Given the description of an element on the screen output the (x, y) to click on. 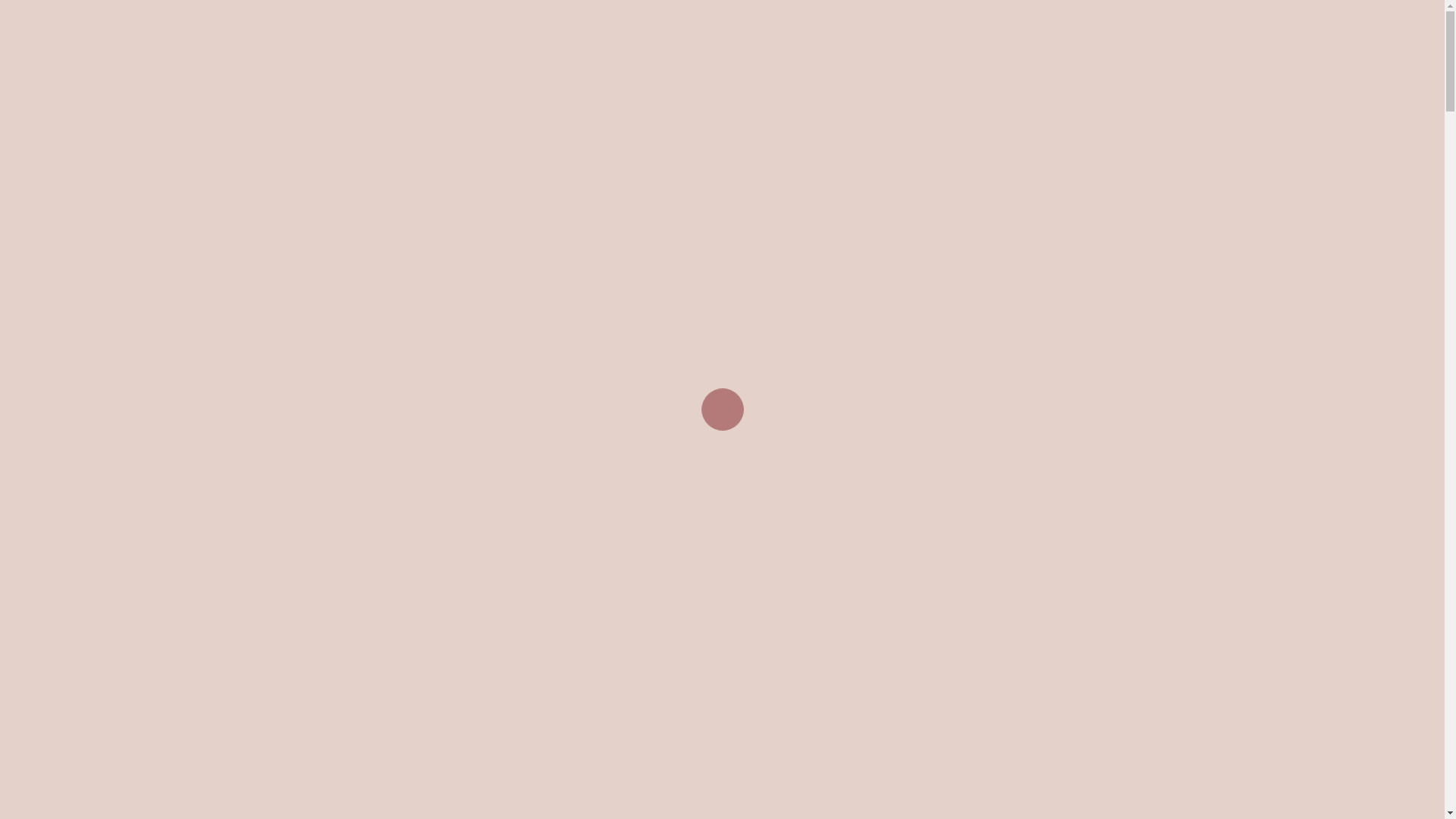
PRESS Element type: text (1261, 25)
AVAILABILITY Element type: text (1323, 25)
THE PENN DISTRICT Element type: text (1182, 25)
CONTACT Element type: text (1395, 25)
